Given the description of an element on the screen output the (x, y) to click on. 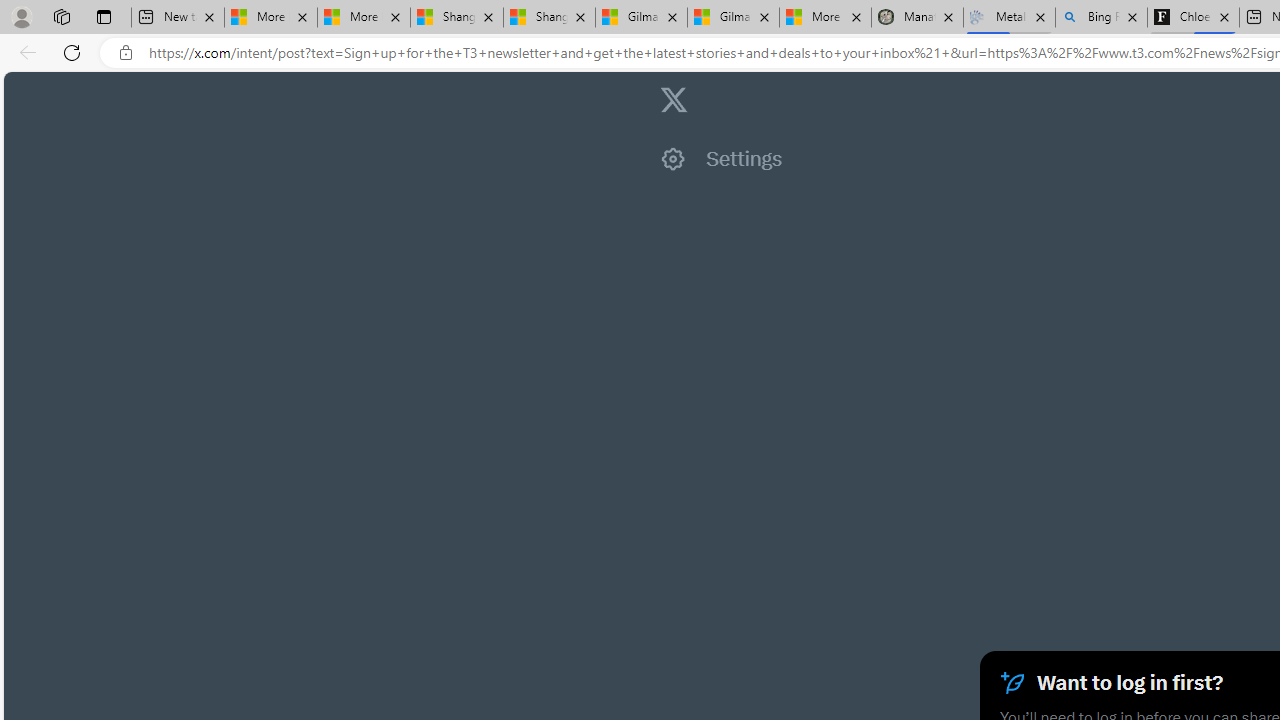
Chloe Sorvino (1193, 17)
Manatee Mortality Statistics | FWC (916, 17)
Bing Real Estate - Home sales and rental listings (1101, 17)
